Given the description of an element on the screen output the (x, y) to click on. 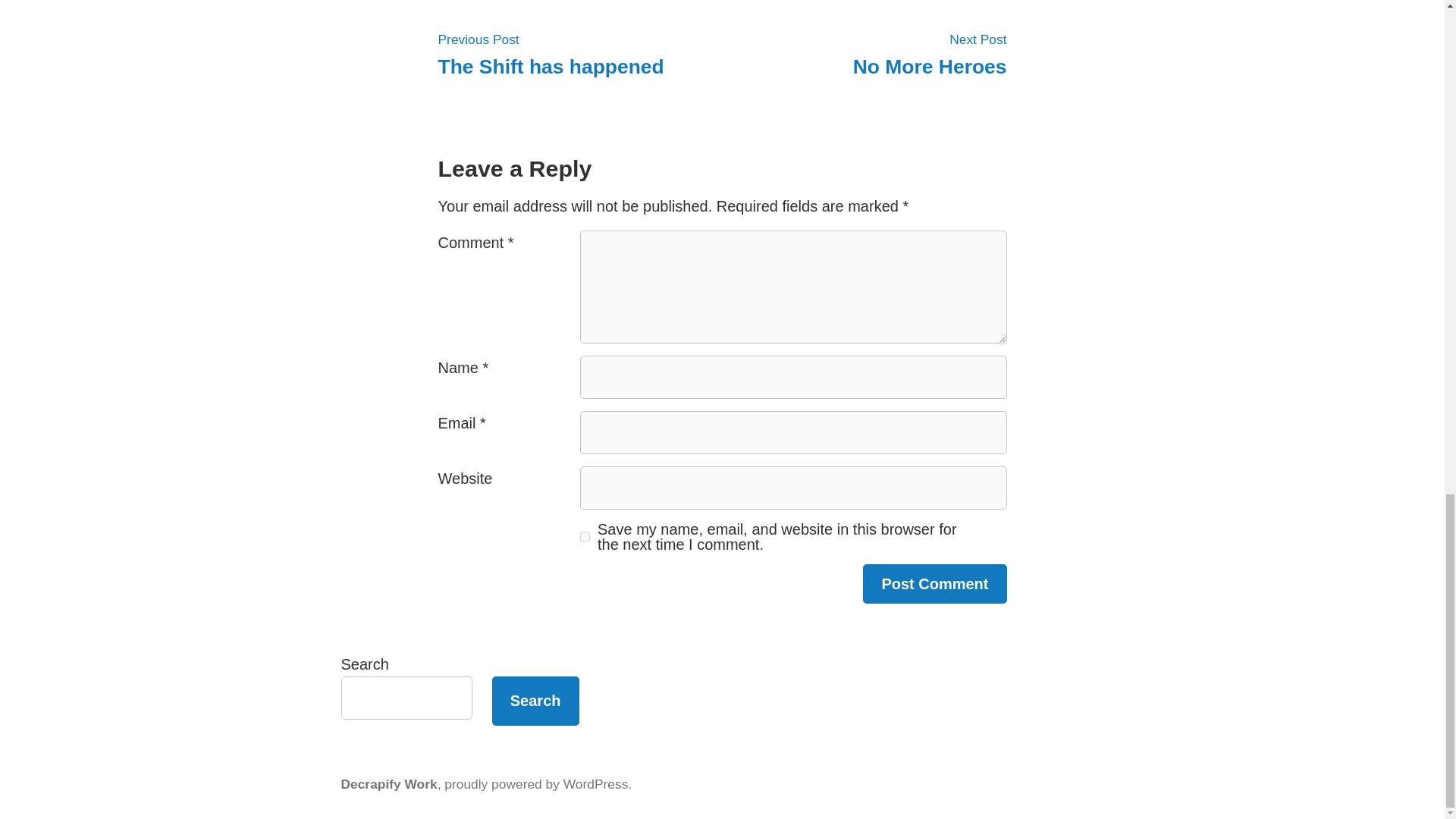
Search (535, 700)
proudly powered by WordPress (550, 53)
Post Comment (535, 783)
Post Comment (934, 583)
Decrapify Work (934, 583)
